Given the description of an element on the screen output the (x, y) to click on. 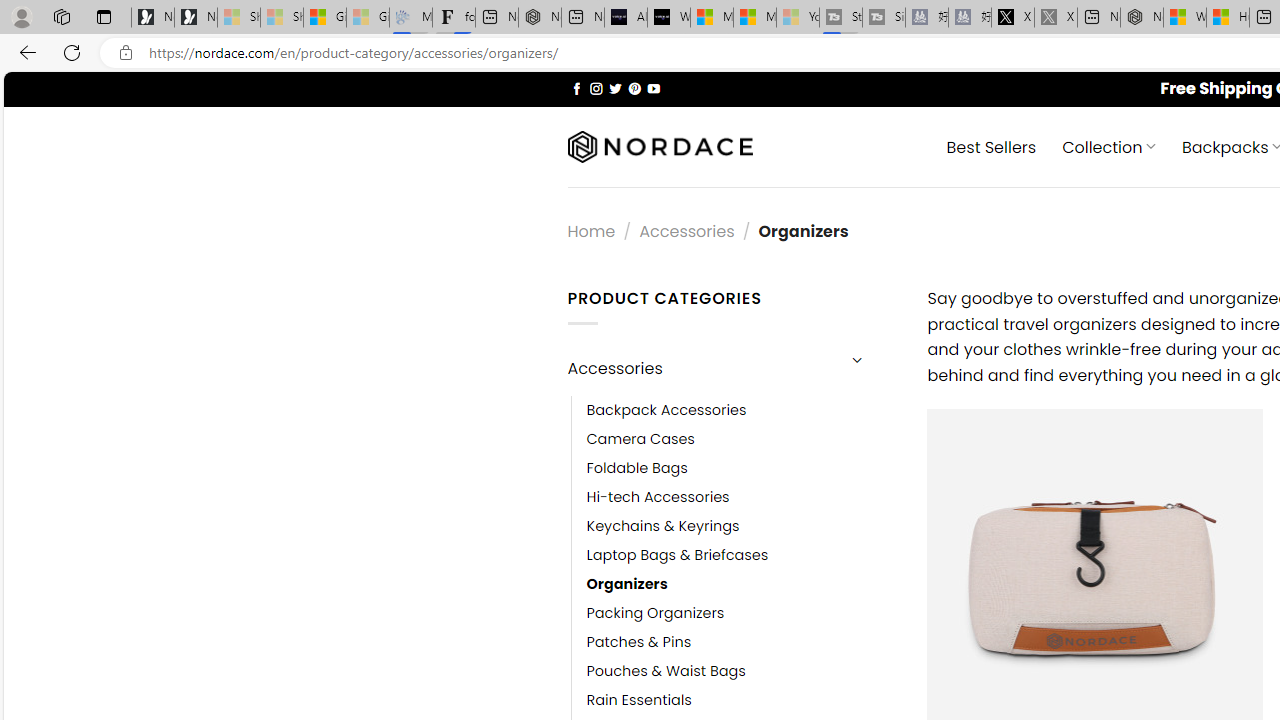
Refresh (72, 52)
Follow on Facebook (576, 88)
Camera Cases (742, 439)
View site information (125, 53)
Home (591, 230)
Nordace - My Account (1142, 17)
Back (24, 52)
Microsoft Start Sports (712, 17)
Workspaces (61, 16)
Follow on Pinterest (634, 88)
